Given the description of an element on the screen output the (x, y) to click on. 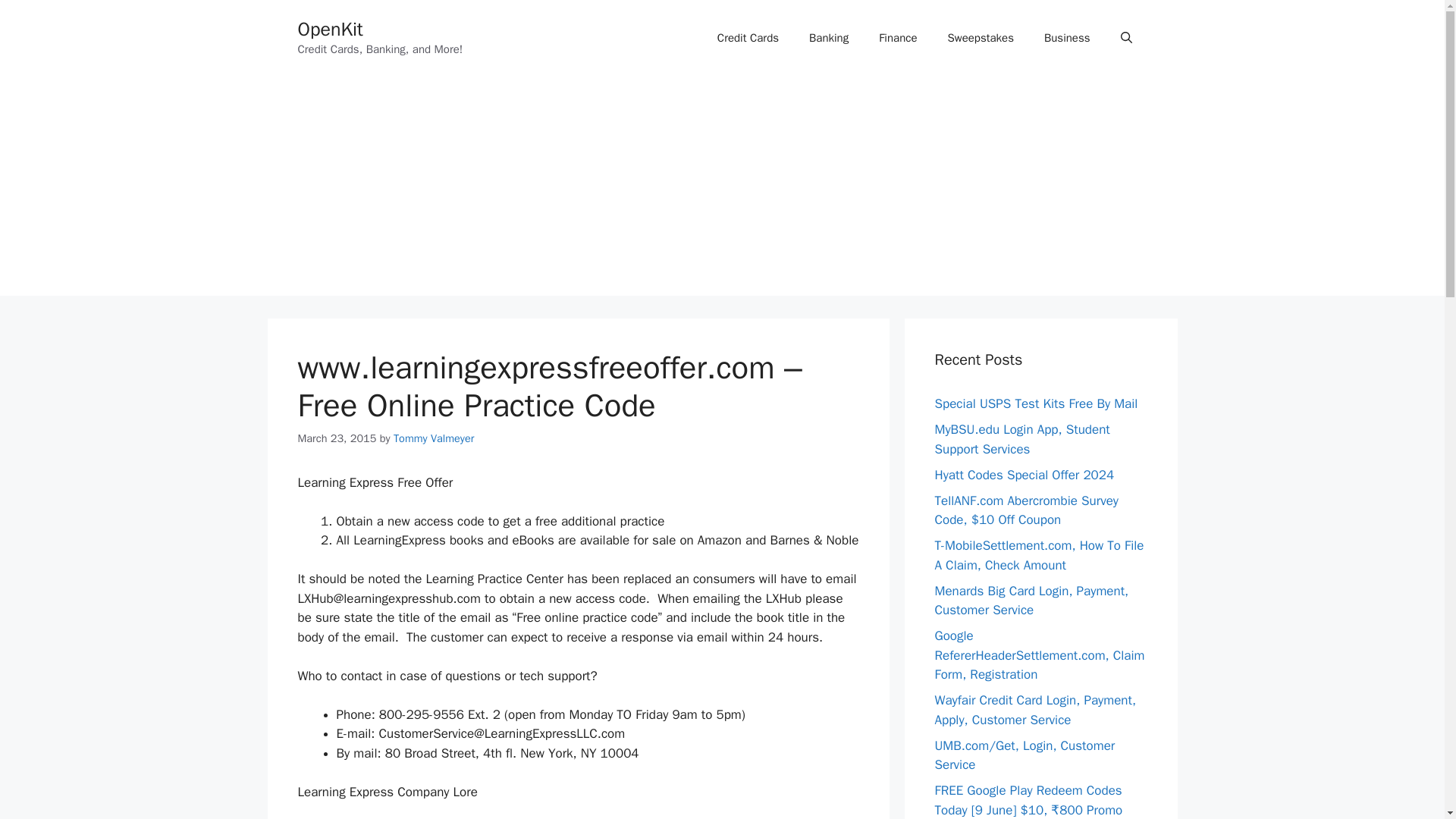
Finance (897, 37)
Banking (828, 37)
T-MobileSettlement.com, How To File A Claim, Check Amount (1038, 555)
Hyatt Codes Special Offer 2024 (1023, 474)
OpenKit (329, 28)
Sweepstakes (981, 37)
View all posts by Tommy Valmeyer (433, 438)
MyBSU.edu Login App, Student Support Services (1021, 439)
Tommy Valmeyer (433, 438)
